Given the description of an element on the screen output the (x, y) to click on. 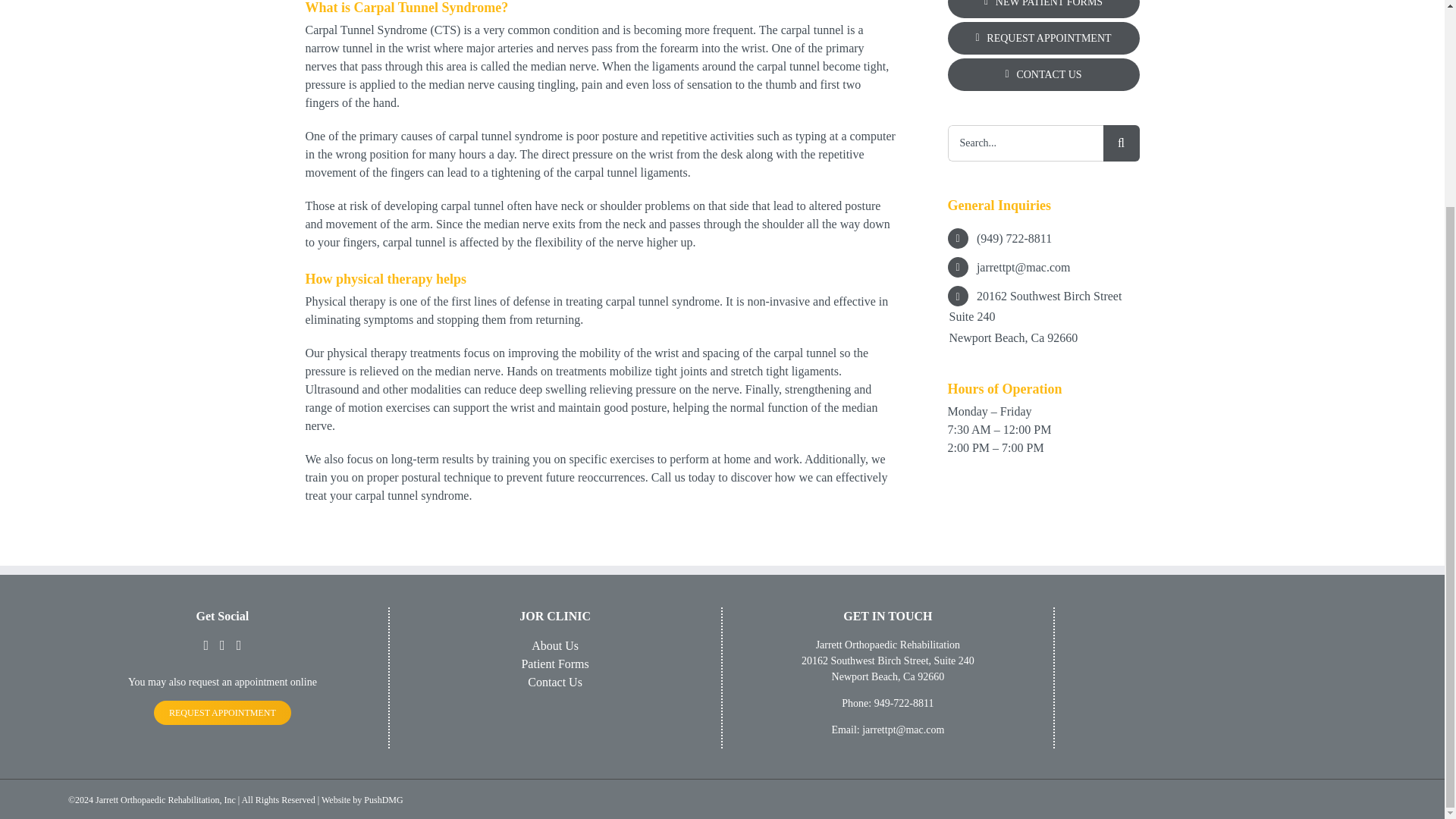
Mail (238, 644)
Facebook (205, 644)
Instagram (222, 644)
